Given the description of an element on the screen output the (x, y) to click on. 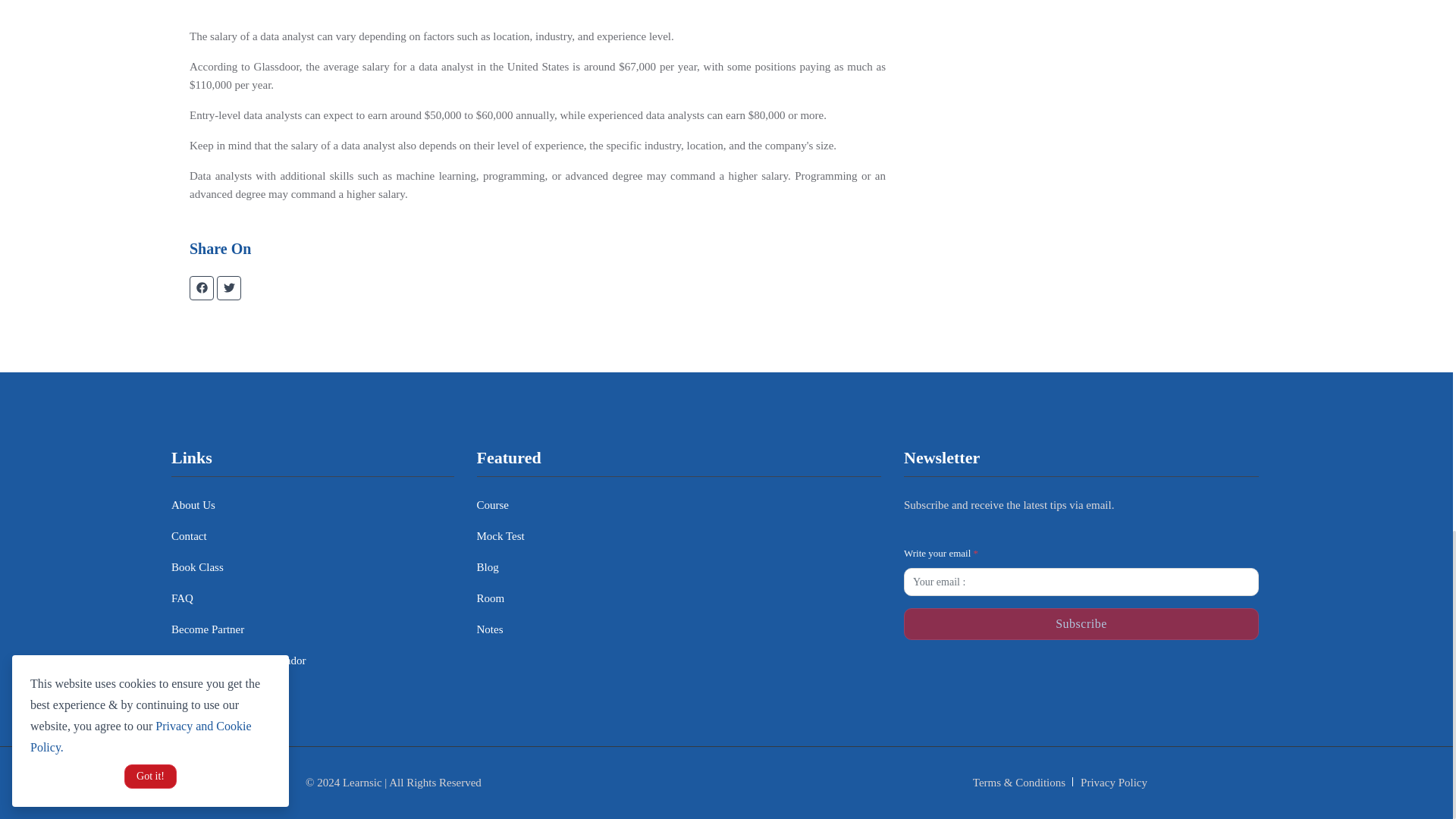
Become Partner (207, 629)
Notes (489, 629)
About Us (193, 505)
YouTube (1213, 676)
Privacy Policy (1113, 782)
Subscribe (1081, 623)
TikTok (1124, 676)
Course (492, 505)
Facebook (949, 676)
Mock Test (500, 536)
Room (489, 598)
FAQ (182, 598)
Blog (486, 567)
Become College Ambassador (238, 660)
Instagram (1036, 676)
